Given the description of an element on the screen output the (x, y) to click on. 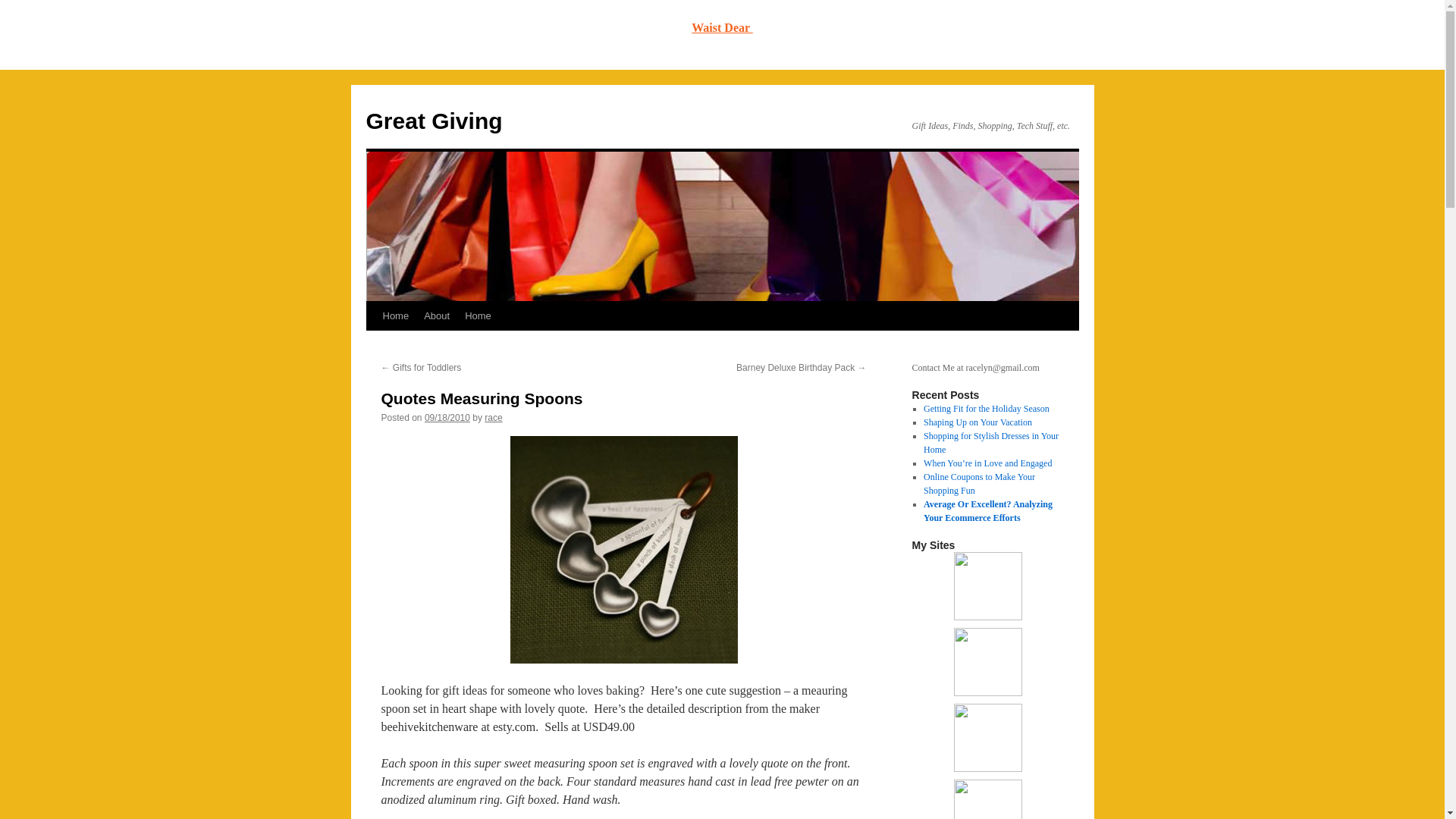
Great Giving (433, 120)
Getting Fit for the Holiday Season (986, 408)
View all posts by race (493, 417)
Shopping for Stylish Dresses in Your Home (990, 442)
race (493, 417)
About (436, 316)
Home (395, 316)
Waist Dear  (721, 27)
22:12 (447, 417)
Shaping Up on Your Vacation (977, 421)
Home (478, 316)
Average Or Excellent? Analyzing Your Ecommerce Efforts (987, 510)
Online Coupons to Make Your Shopping Fun (979, 483)
